Given the description of an element on the screen output the (x, y) to click on. 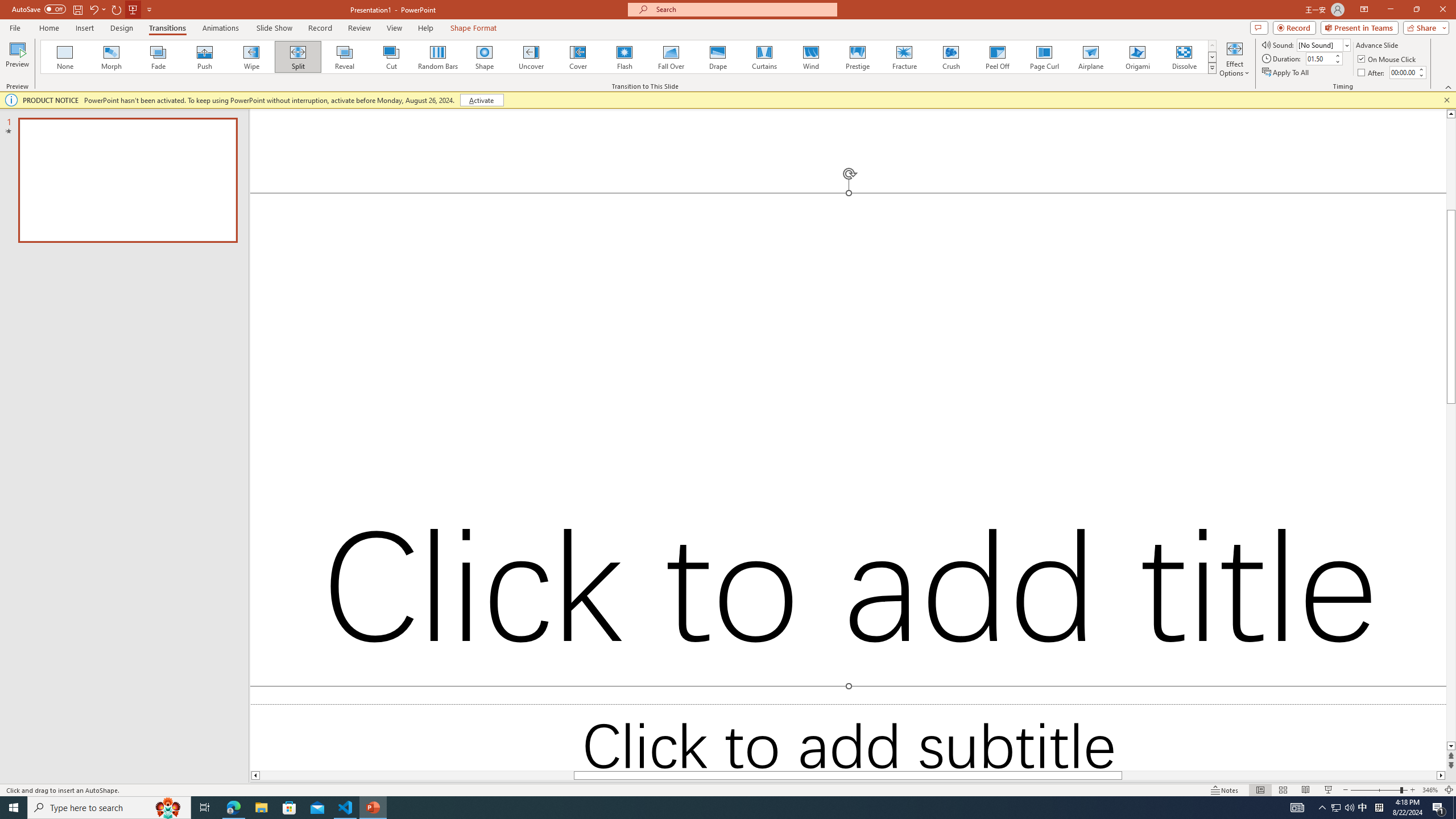
Apply To All (1286, 72)
